Given the description of an element on the screen output the (x, y) to click on. 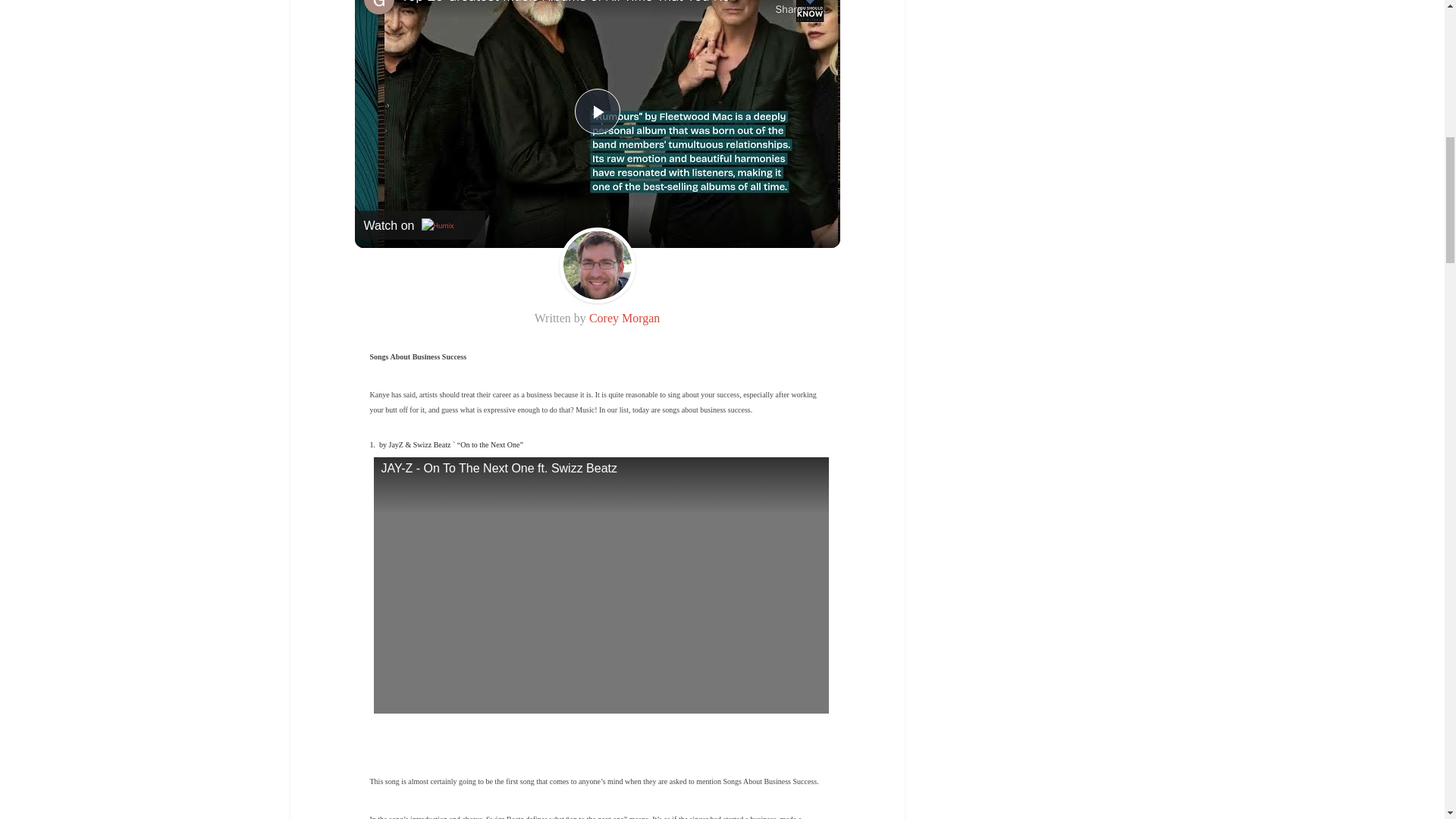
share (789, 8)
Play Video (597, 111)
Play Video (597, 111)
JAY-Z - On To The Next One ft. Swizz Beatz (600, 585)
